Given the description of an element on the screen output the (x, y) to click on. 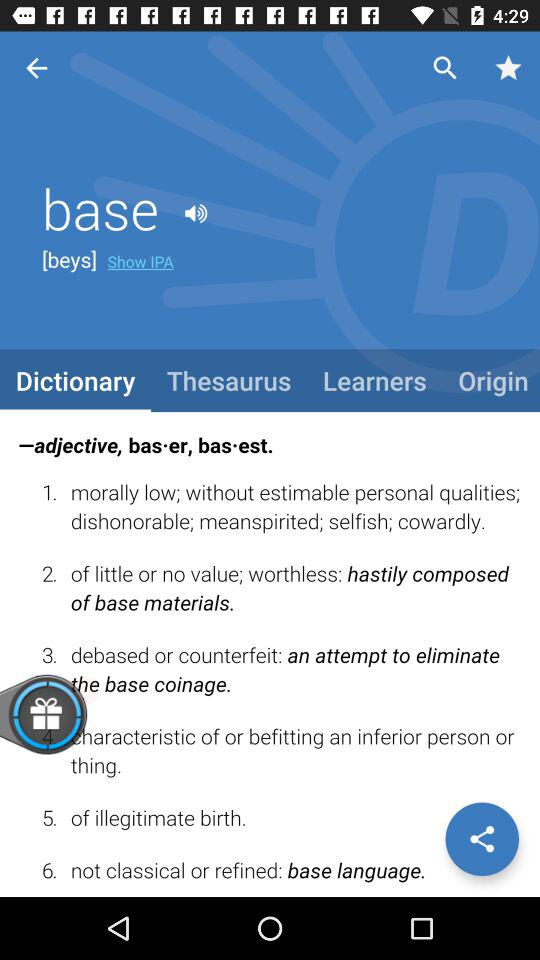
select the text which is to the right of beys (140, 260)
select the icon which is at the bottom right corner (482, 839)
